Given the description of an element on the screen output the (x, y) to click on. 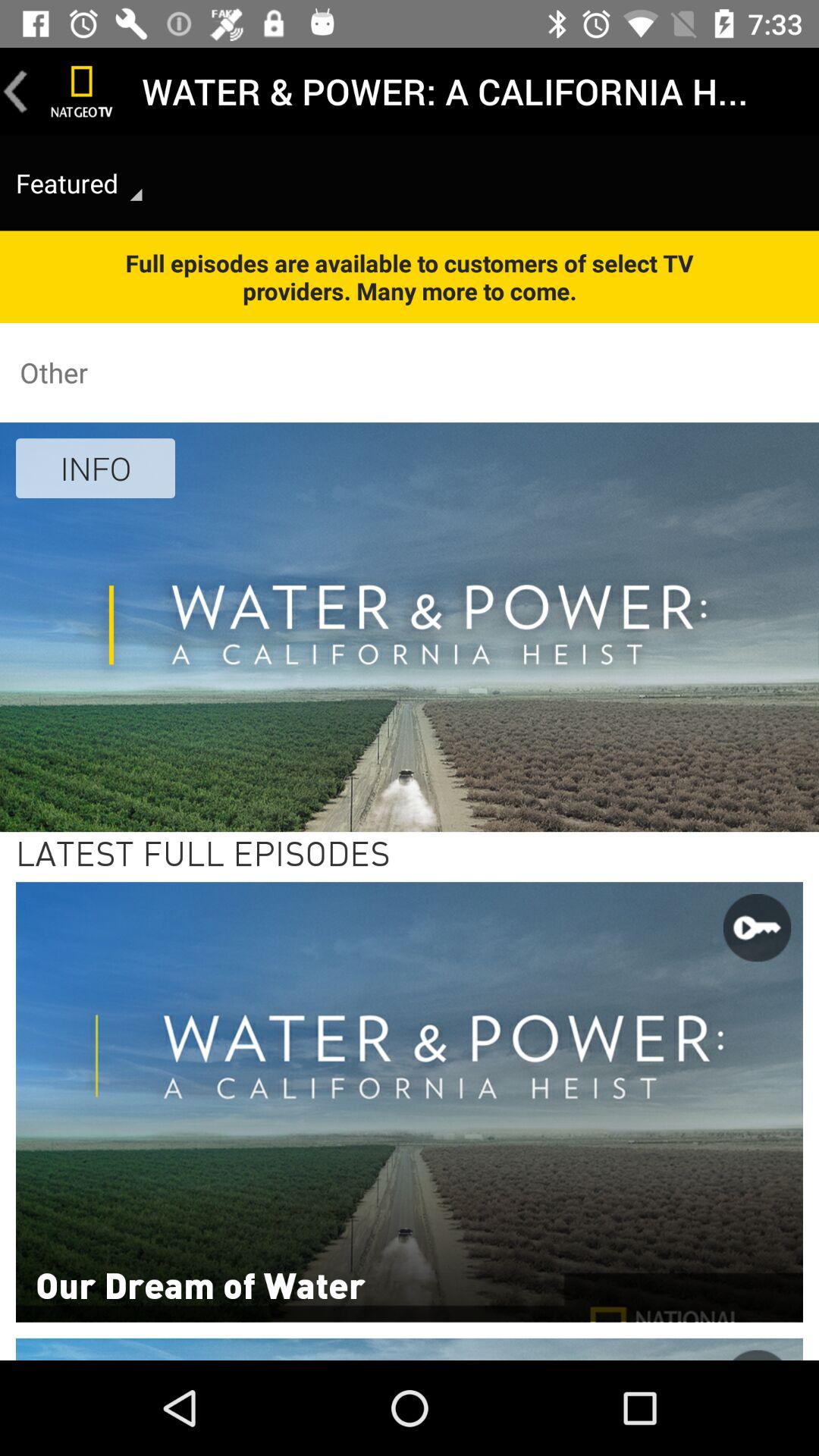
choose our dream of (200, 1284)
